Given the description of an element on the screen output the (x, y) to click on. 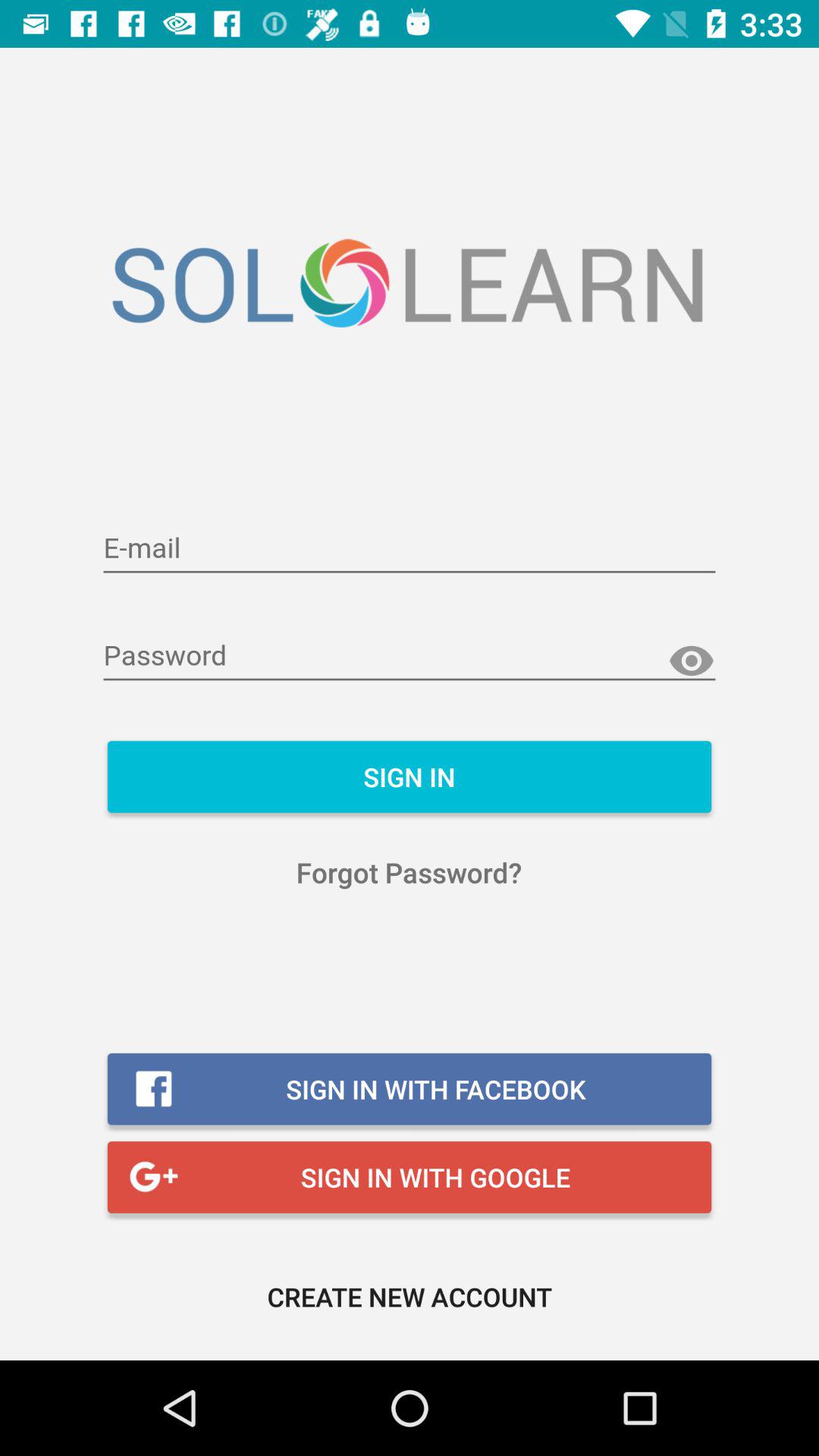
turn off item below the sign in with icon (409, 1296)
